Given the description of an element on the screen output the (x, y) to click on. 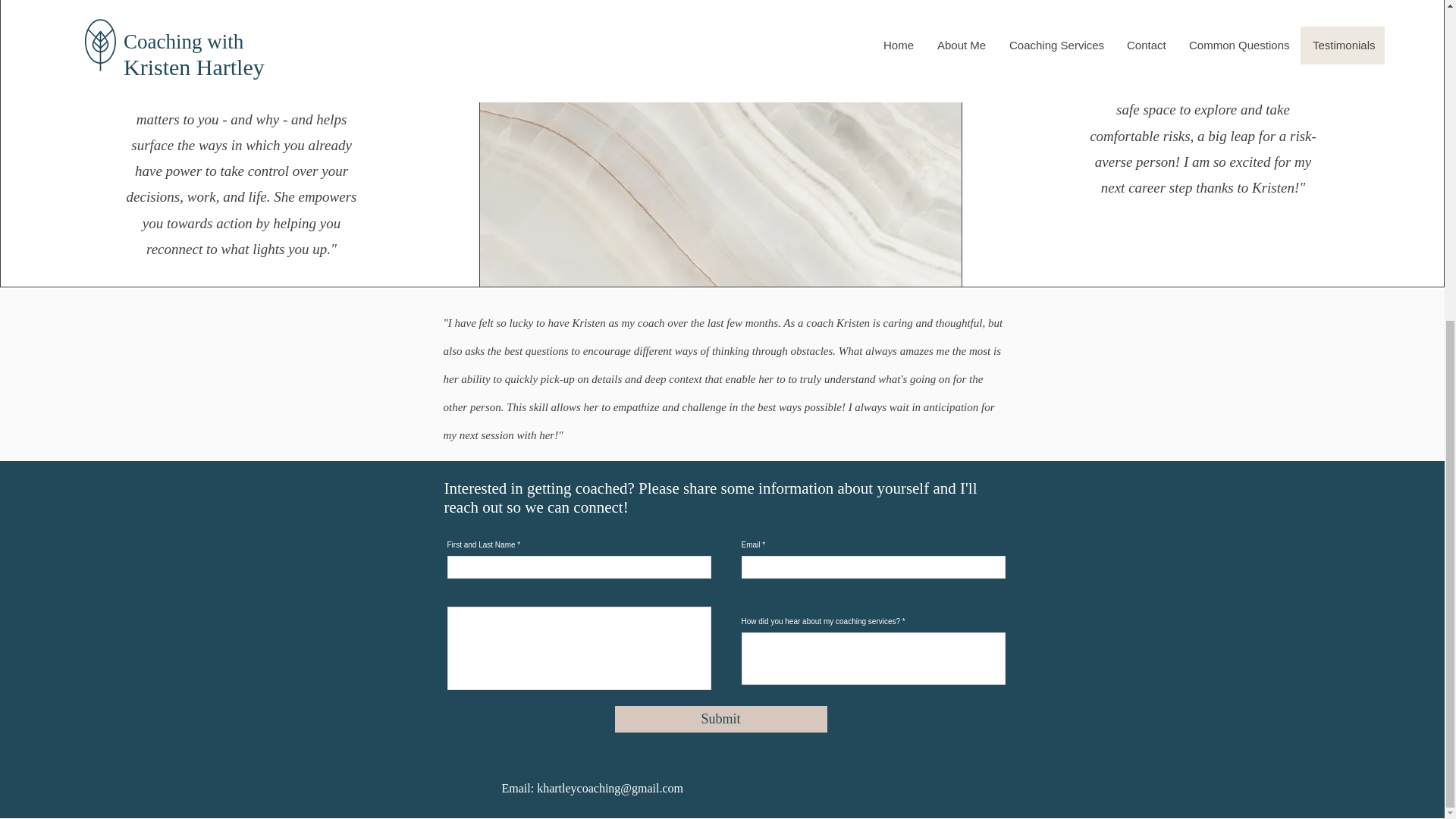
Submit (720, 718)
